Given the description of an element on the screen output the (x, y) to click on. 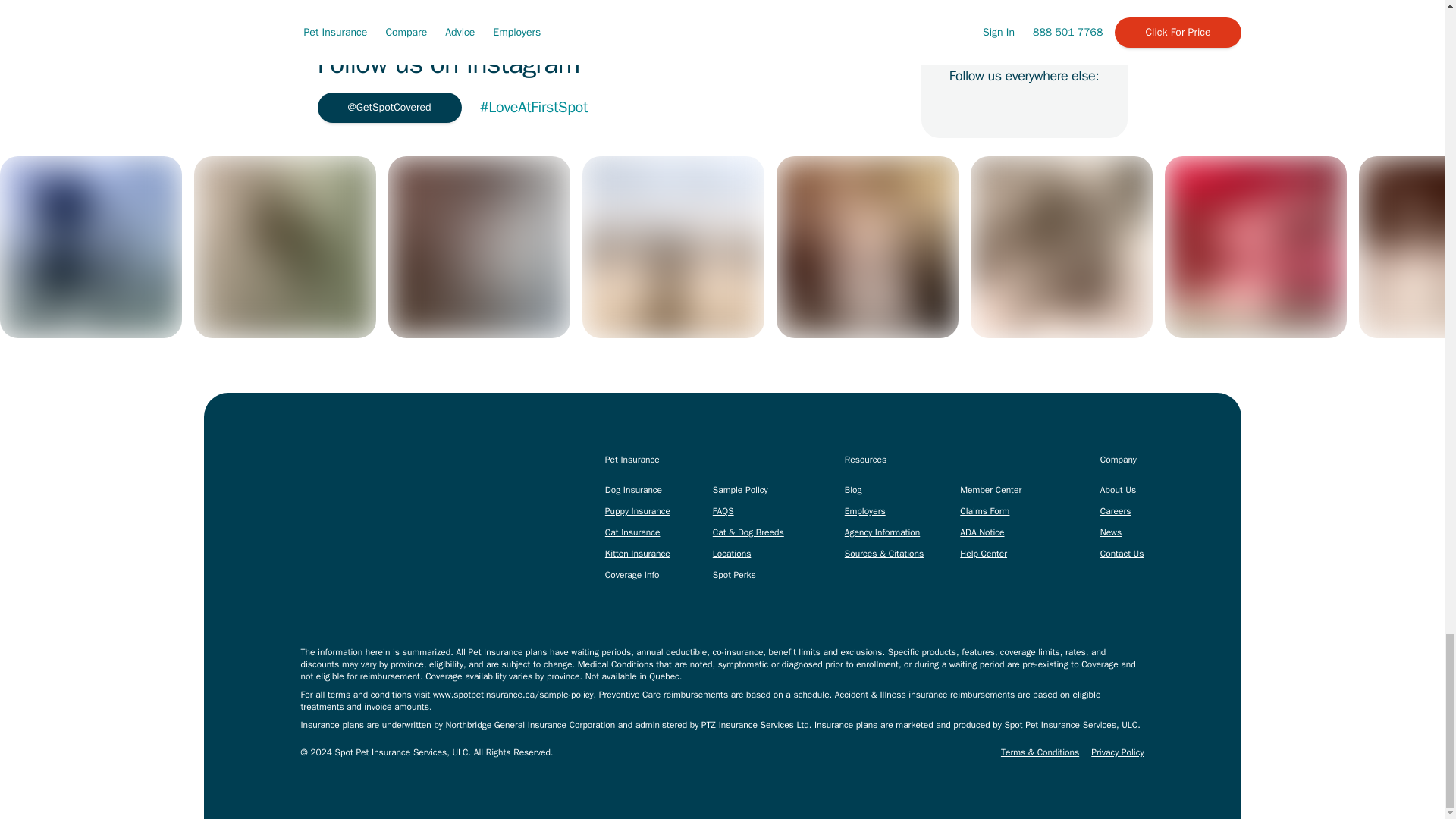
Spot on Facebook (956, 107)
Spot on YouTube (1090, 107)
Spot on LinkedIn (990, 107)
Spot on X (1056, 107)
Spot on TikTok (1023, 107)
